Given the description of an element on the screen output the (x, y) to click on. 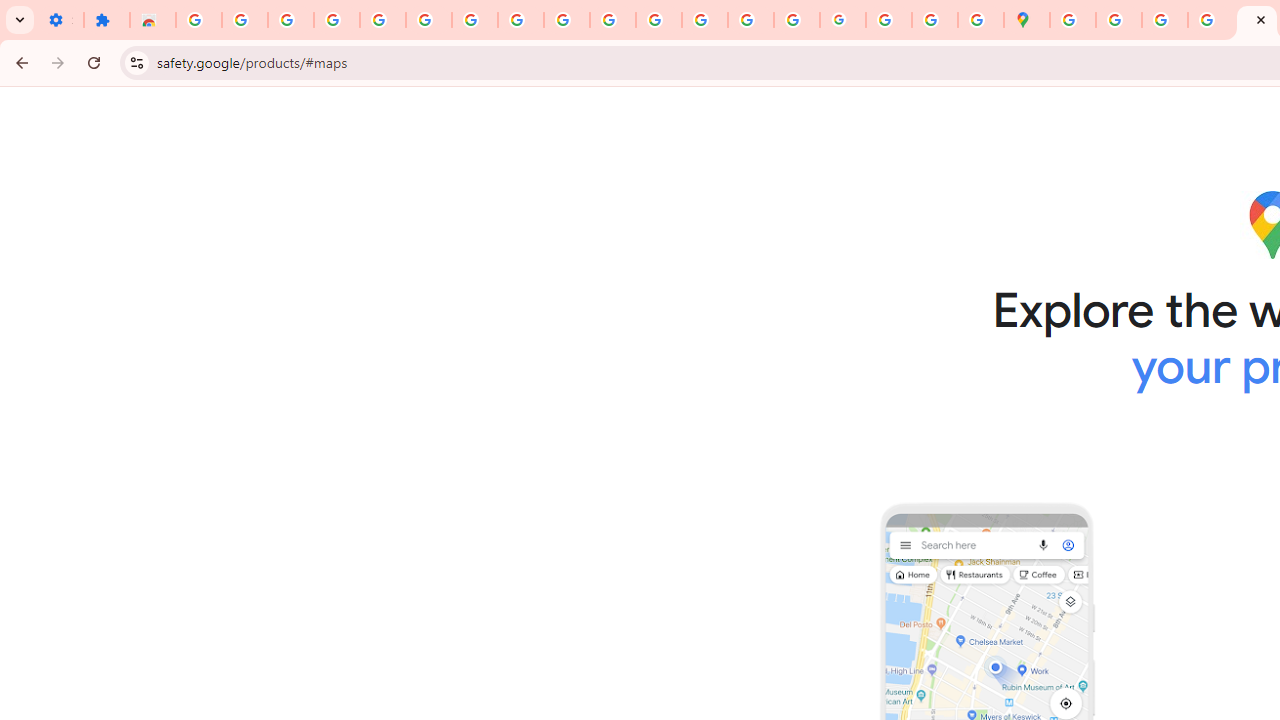
Create your Google Account (1164, 20)
